Given the description of an element on the screen output the (x, y) to click on. 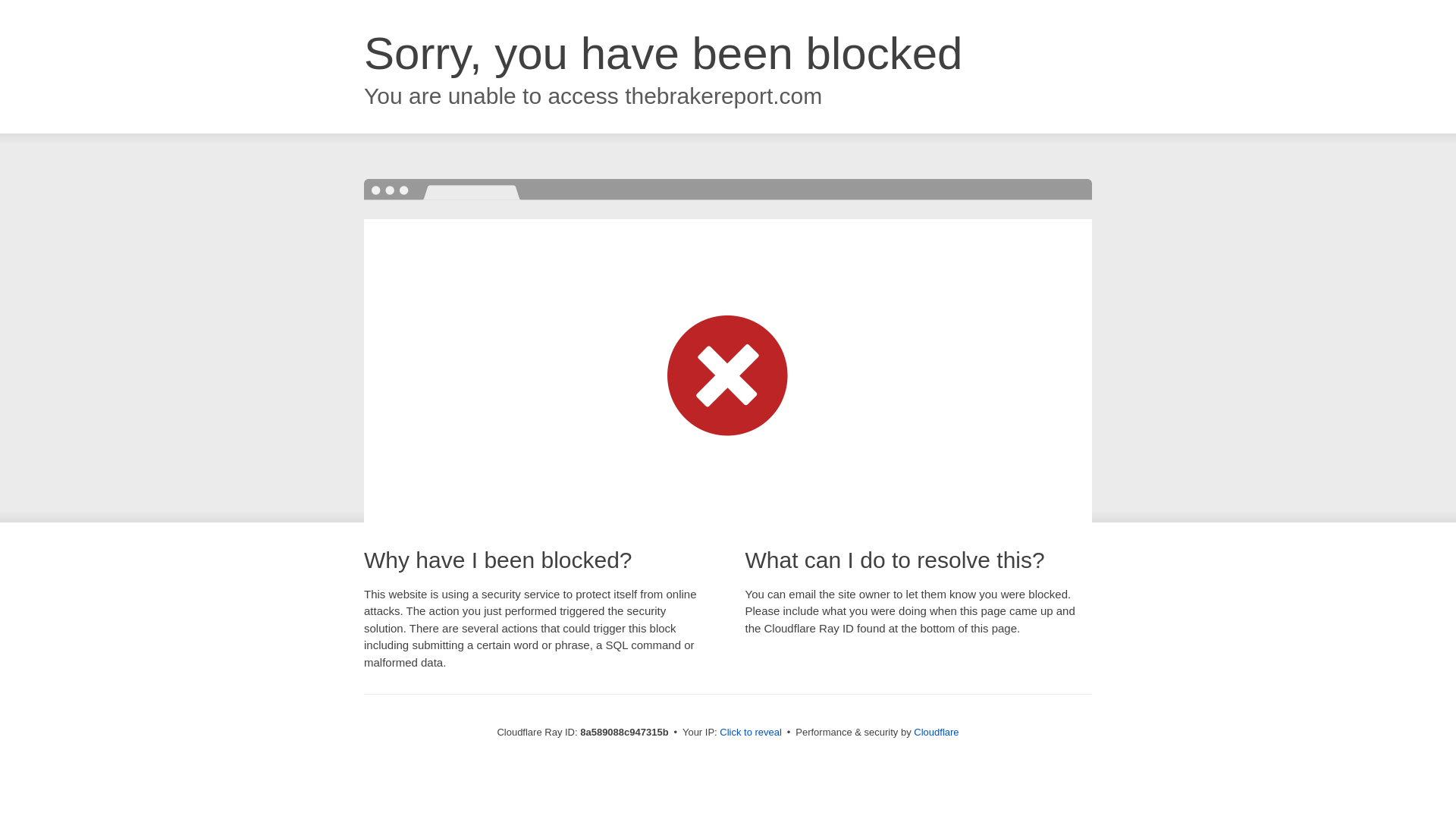
Click to reveal (750, 732)
Cloudflare (936, 731)
